Given the description of an element on the screen output the (x, y) to click on. 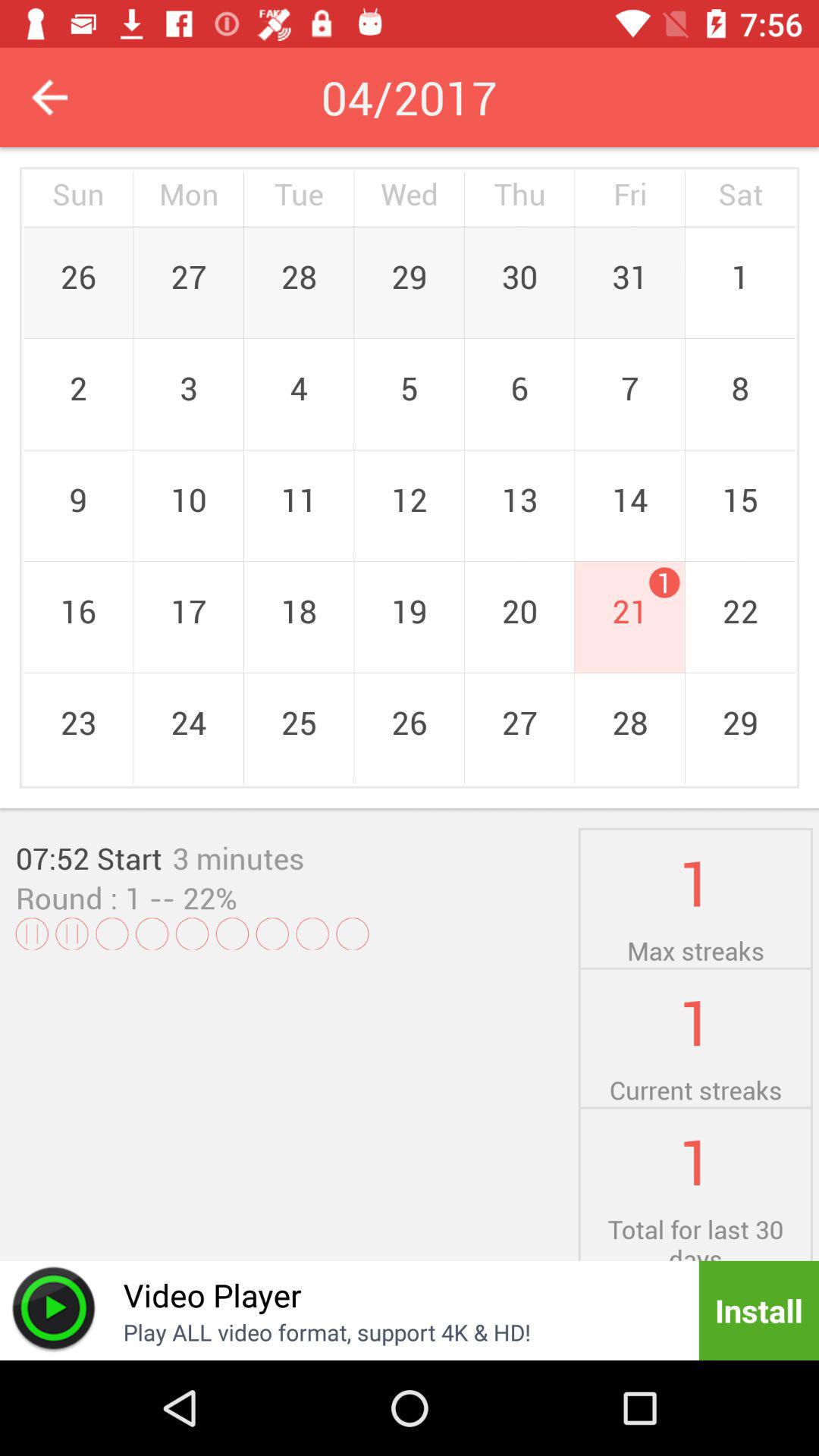
turn off item next to 04/2017 item (49, 97)
